Given the description of an element on the screen output the (x, y) to click on. 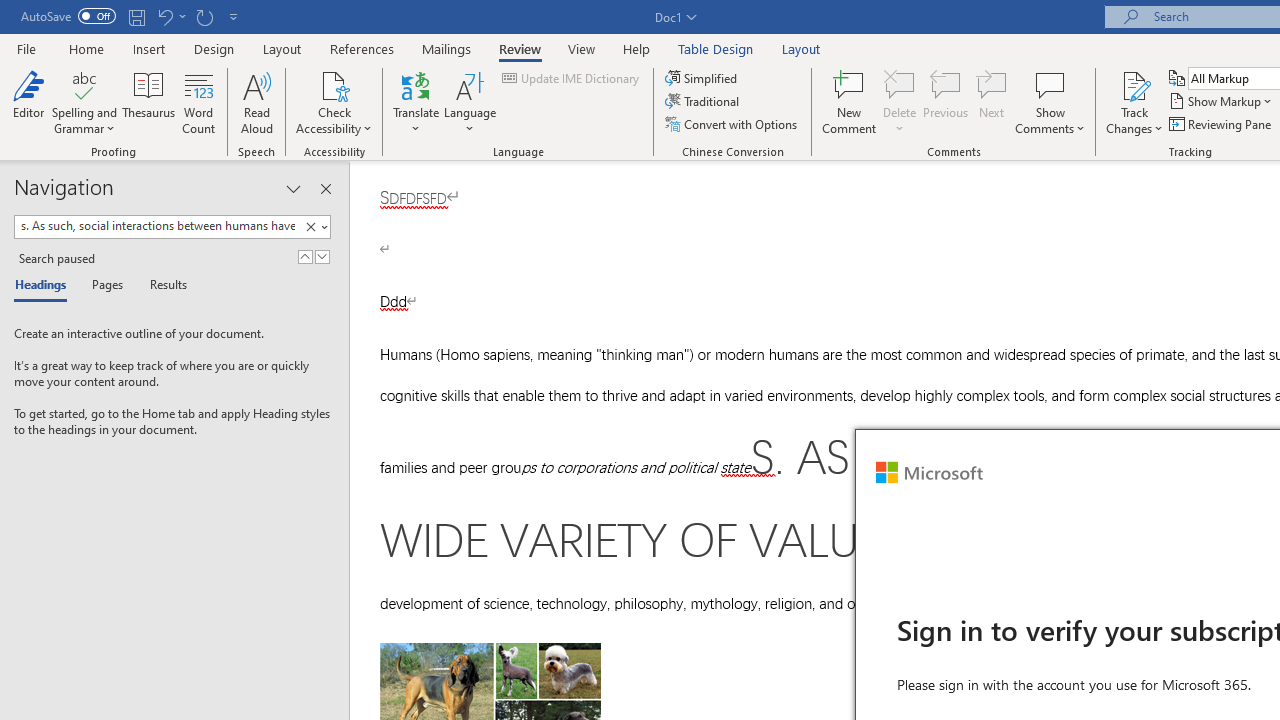
Check Accessibility (334, 84)
Thesaurus... (148, 102)
Repeat Style (204, 15)
Undo Style (170, 15)
Previous Result (304, 256)
